Given the description of an element on the screen output the (x, y) to click on. 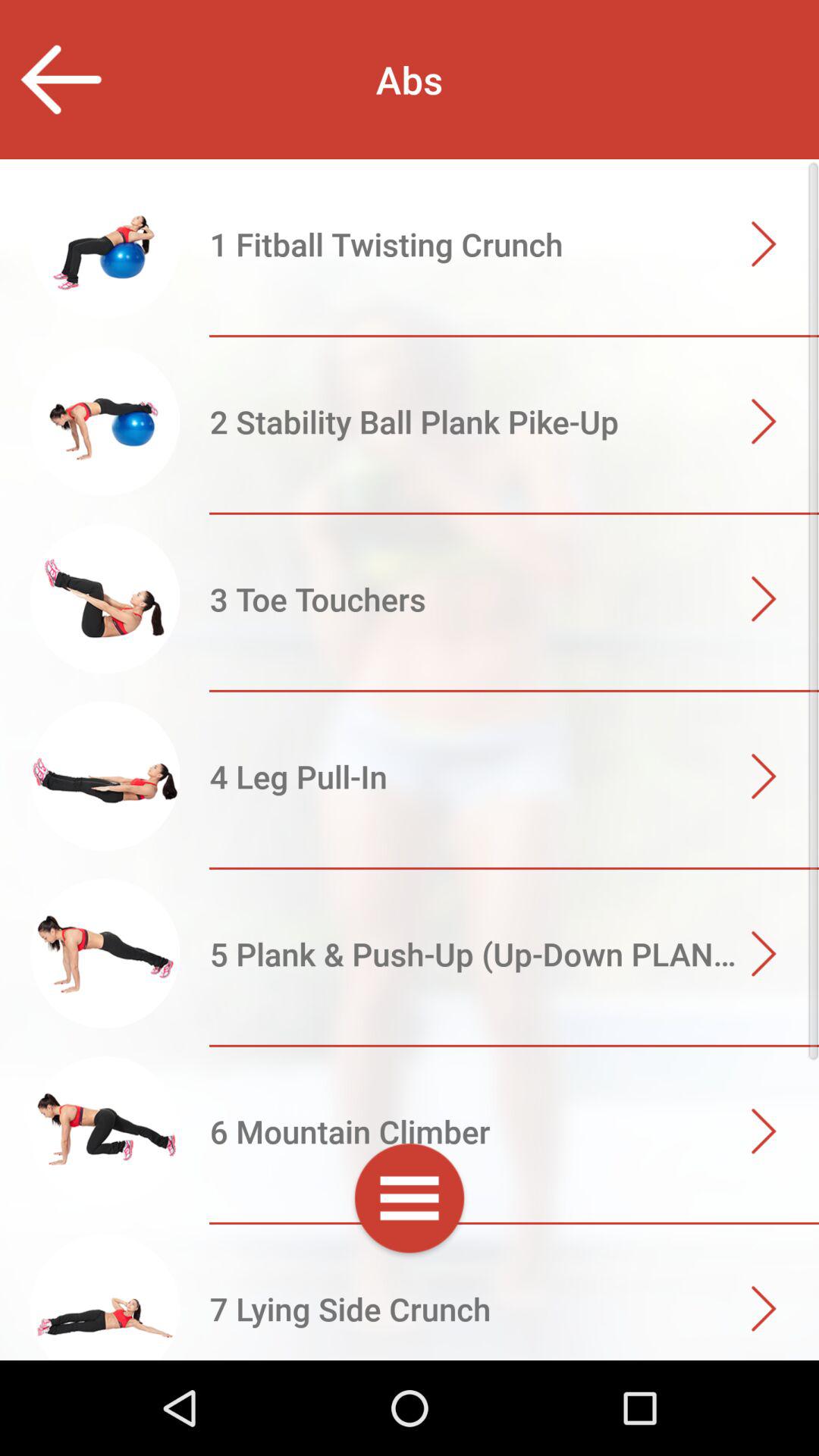
open 7 lying side crunch (409, 1310)
